Given the description of an element on the screen output the (x, y) to click on. 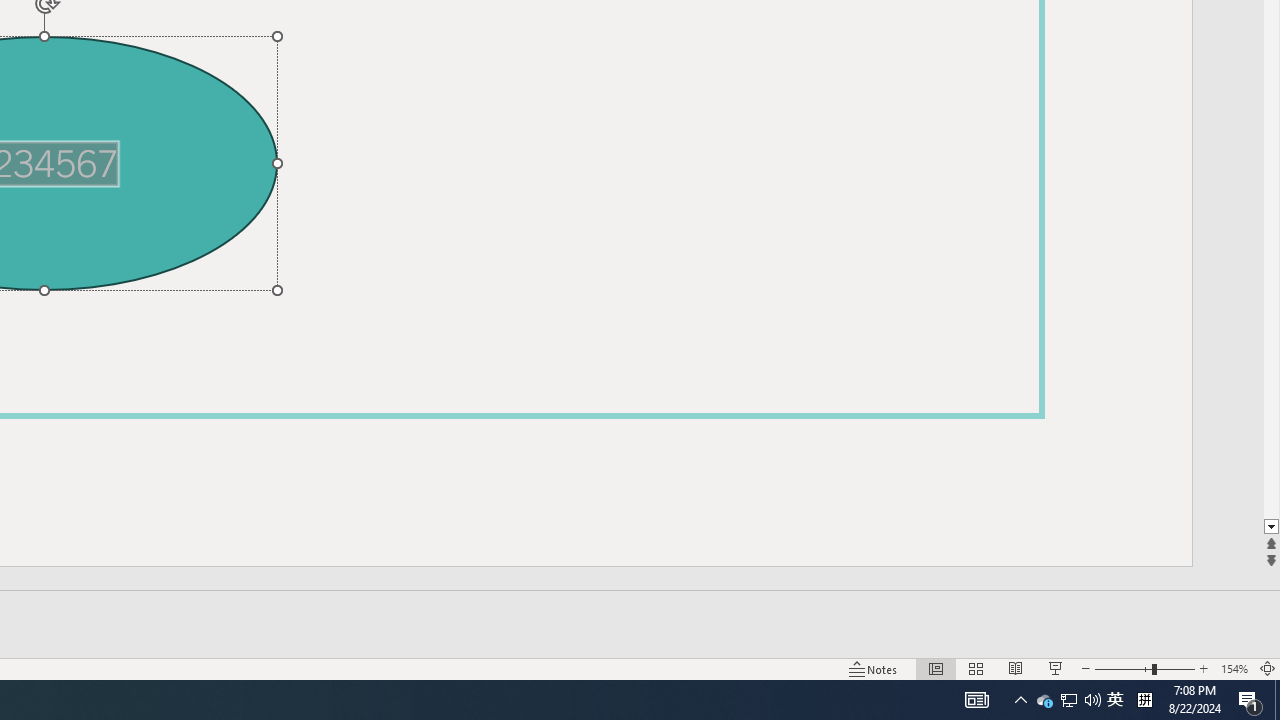
Zoom 154% (1234, 668)
